Given the description of an element on the screen output the (x, y) to click on. 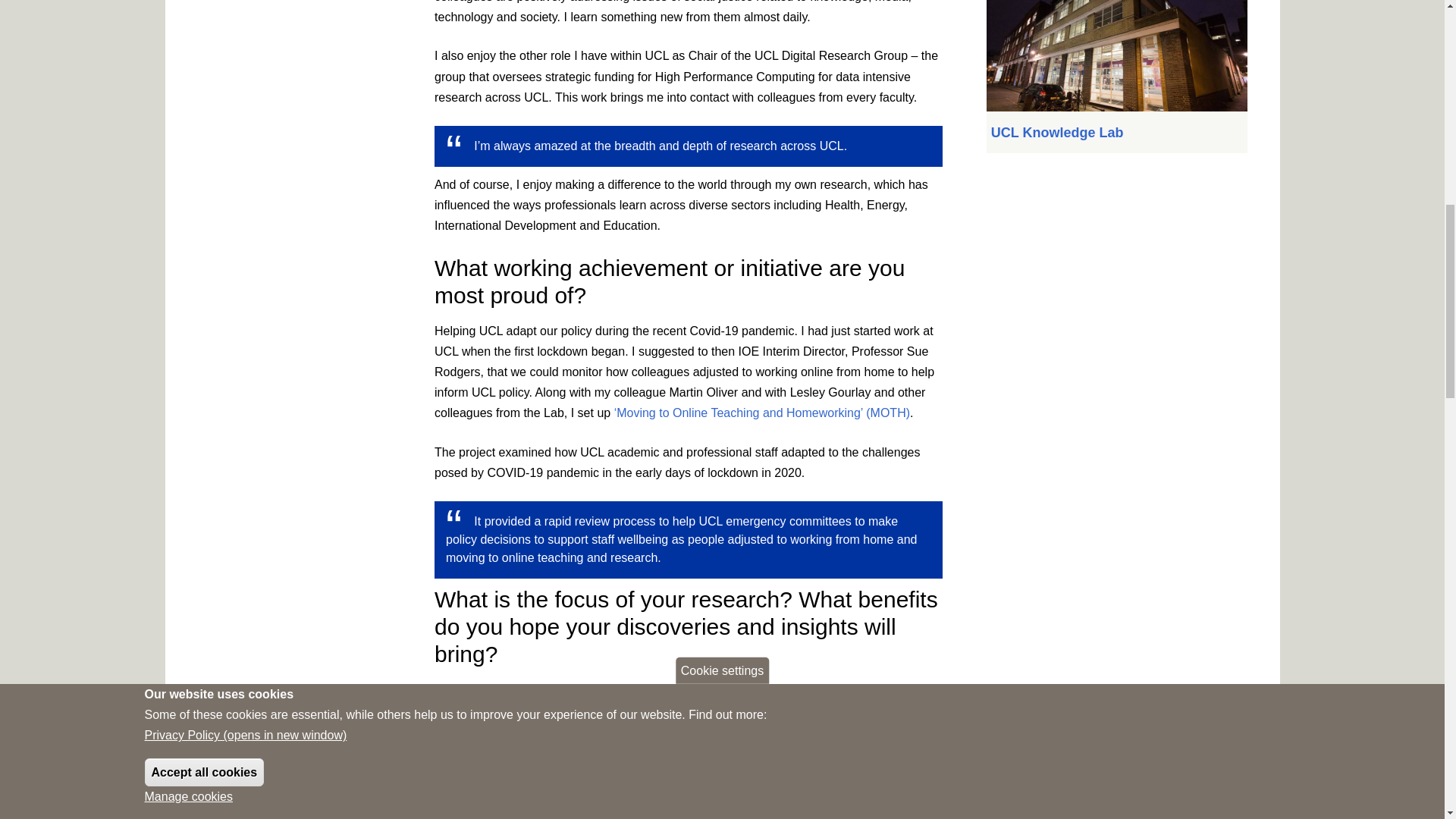
UCL Knowledge Lab (1057, 132)
